Given the description of an element on the screen output the (x, y) to click on. 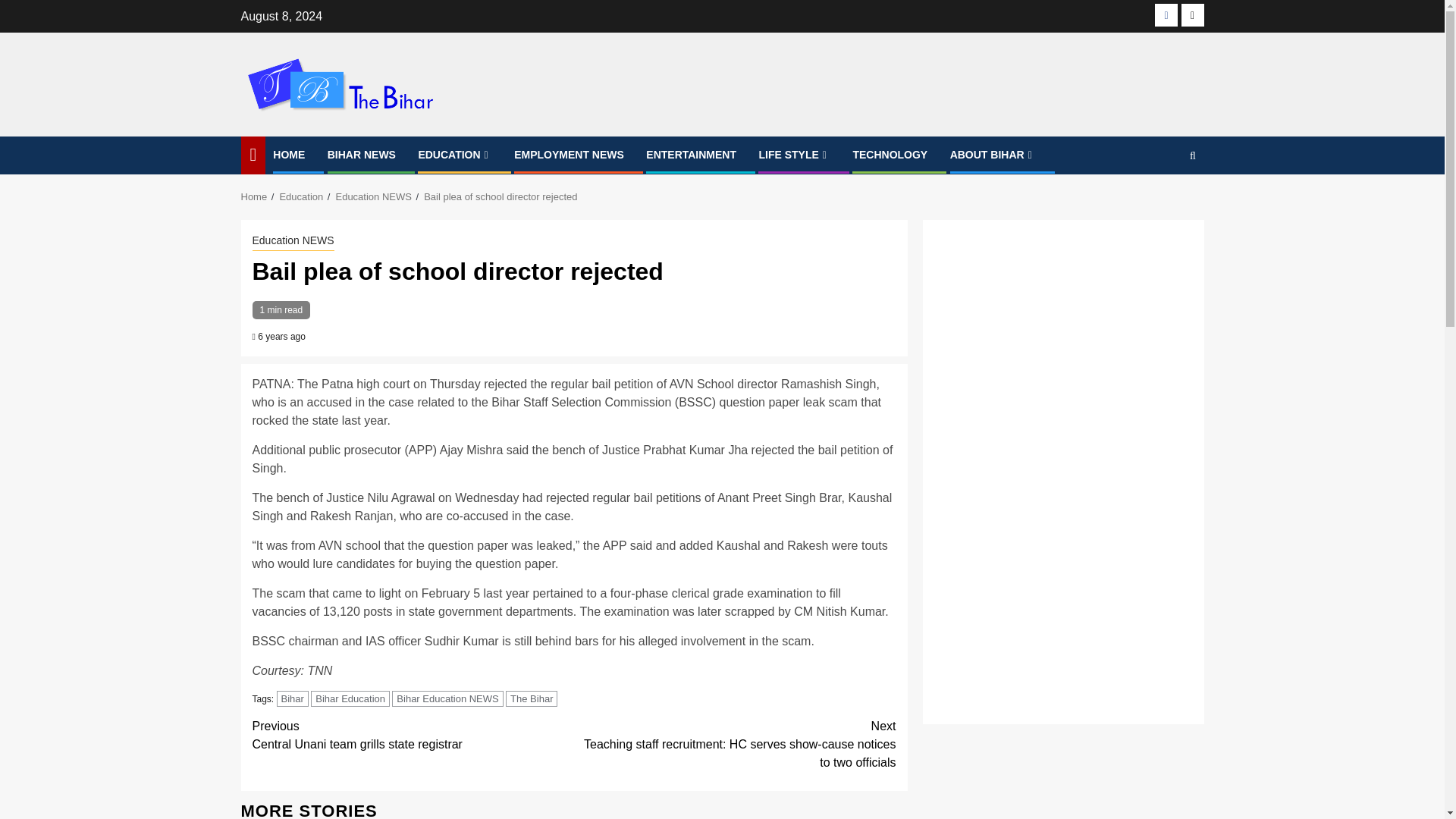
Advertisement (1062, 592)
Search (1163, 201)
BIHAR NEWS (361, 154)
EDUCATION (454, 154)
Bihar Education (350, 698)
EMPLOYMENT NEWS (568, 154)
Education NEWS (292, 240)
HOME (288, 154)
Bihar (292, 698)
LIFE STYLE (793, 154)
